Given the description of an element on the screen output the (x, y) to click on. 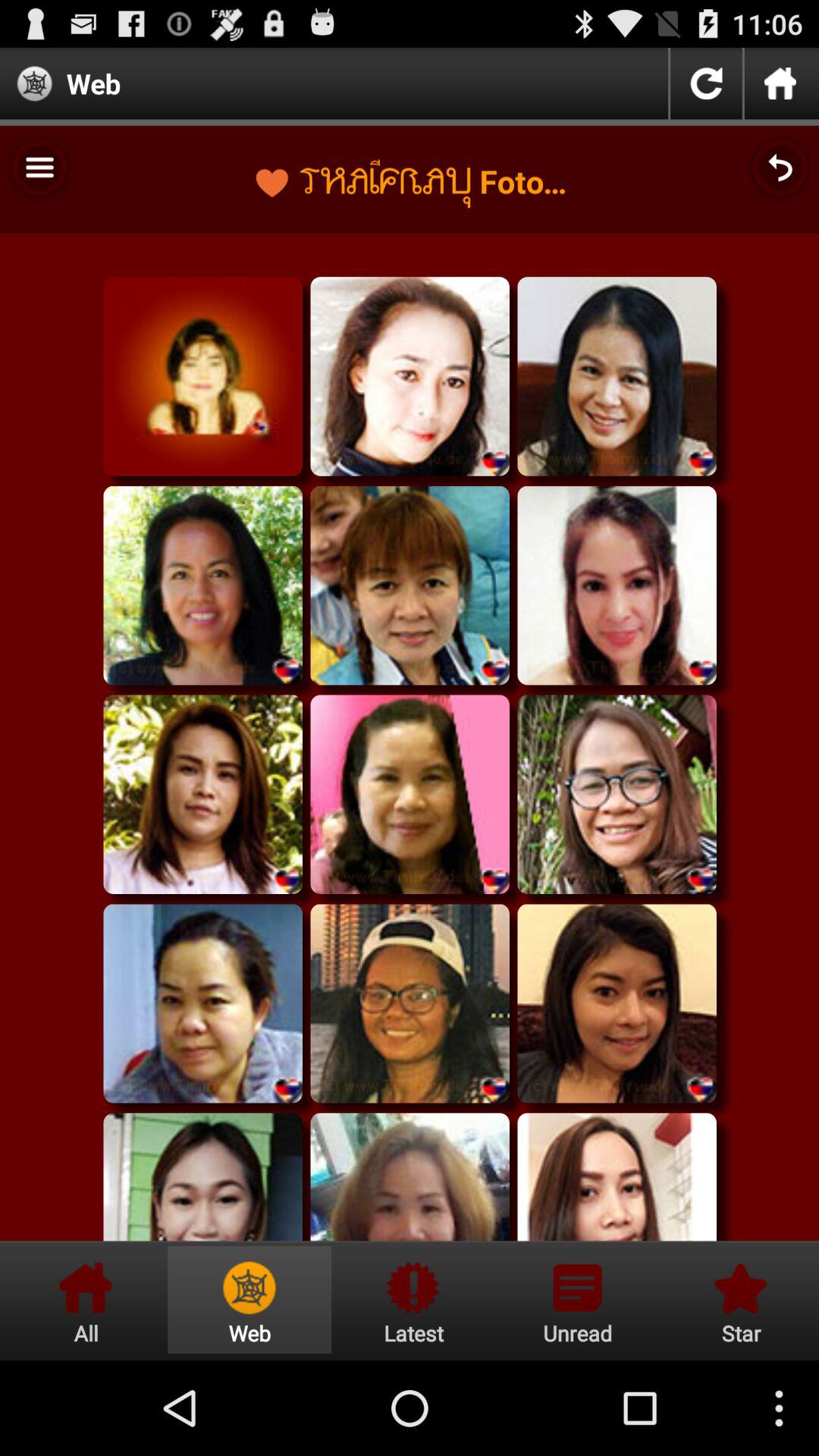
refresh the page (706, 83)
